Given the description of an element on the screen output the (x, y) to click on. 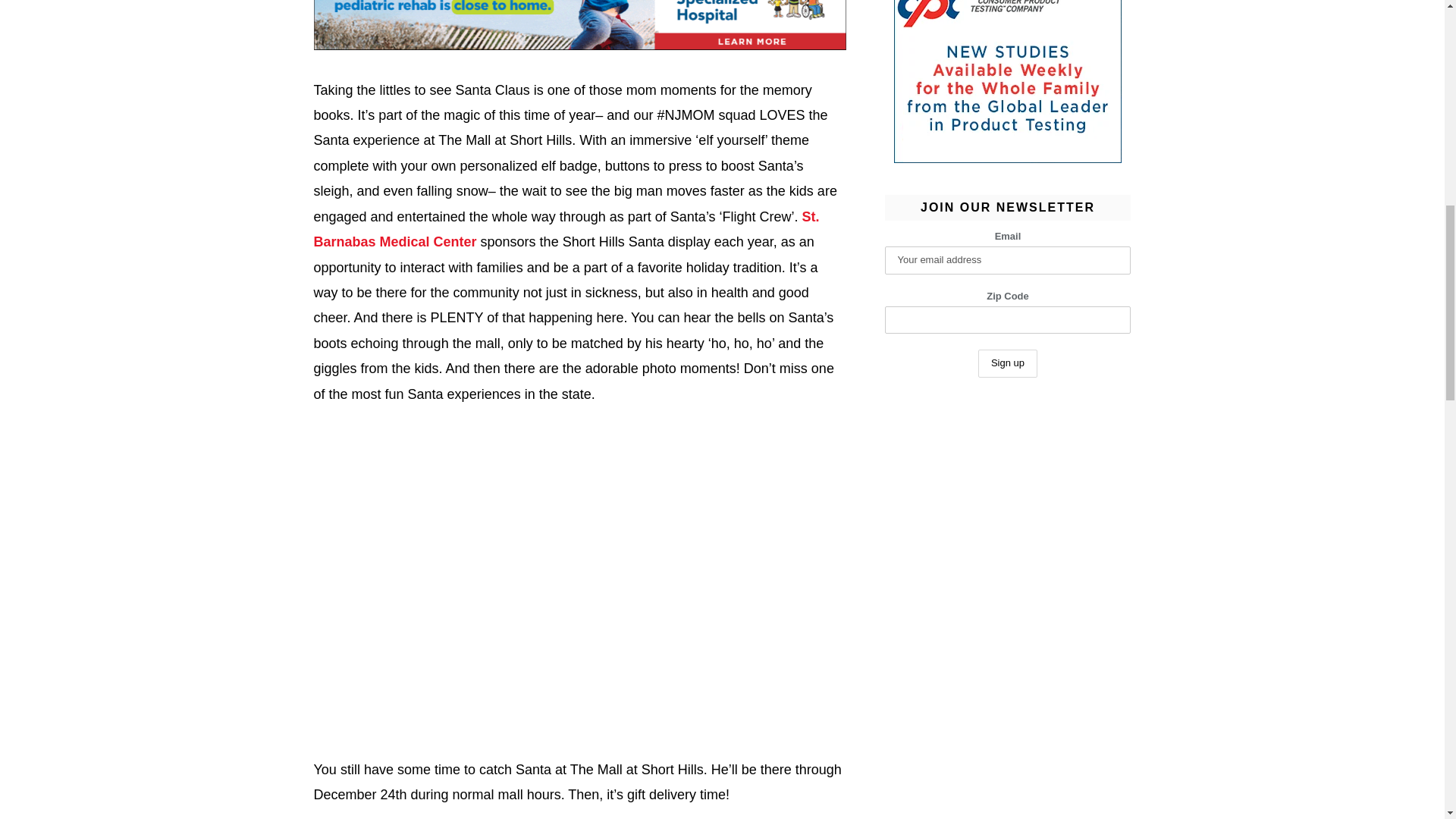
Sign up (1007, 363)
